Given the description of an element on the screen output the (x, y) to click on. 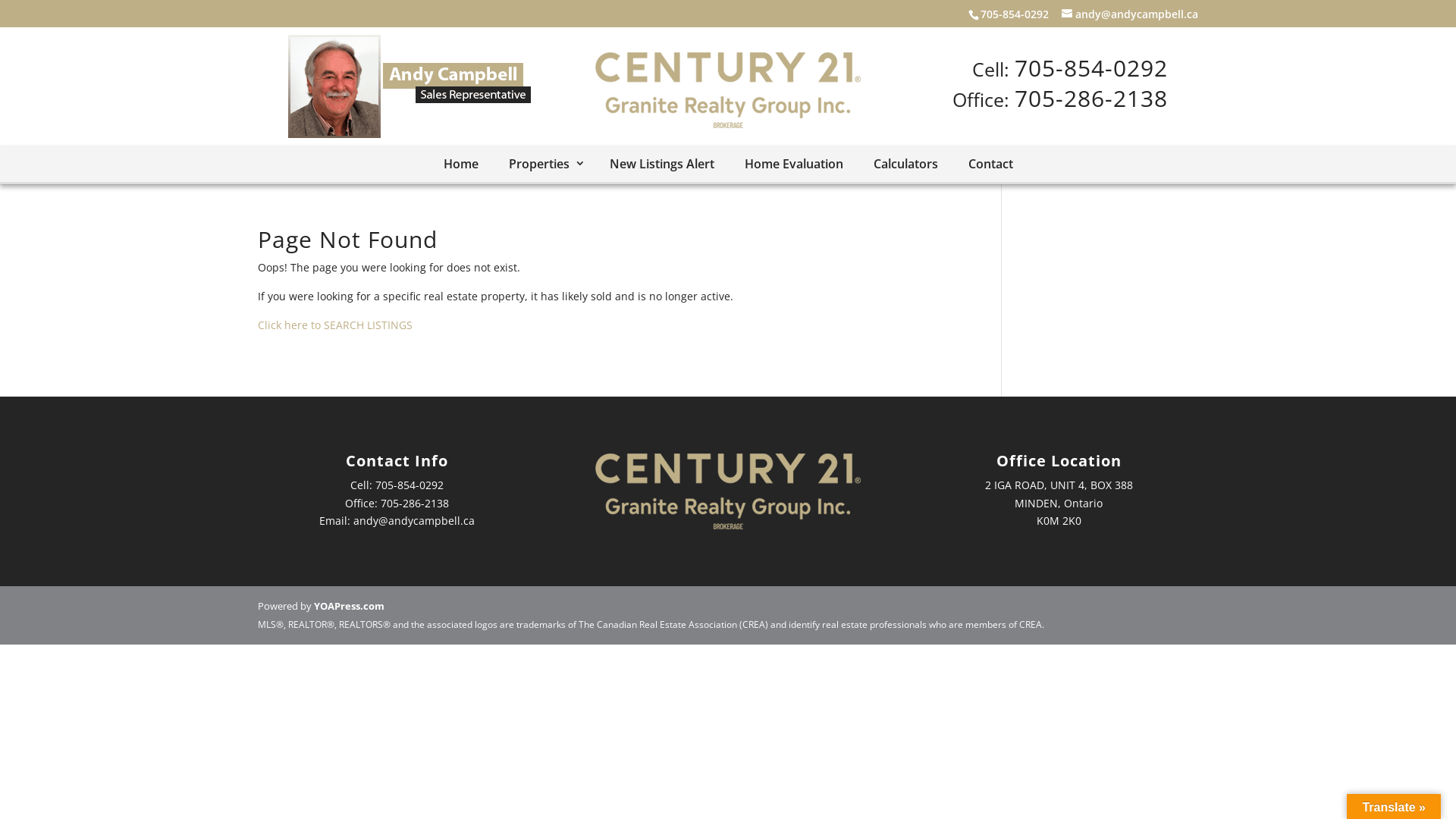
Click here to SEARCH LISTINGS Element type: text (334, 324)
Properties Element type: text (543, 164)
andy@andycampbell.ca Element type: text (413, 520)
705-854-0292 Element type: text (1090, 67)
Home Evaluation Element type: text (793, 164)
705-286-2138 Element type: text (1090, 96)
705-854-0292 Element type: text (409, 484)
New Listings Alert Element type: text (662, 164)
705-854-0292 Element type: text (1014, 13)
Calculators Element type: text (905, 164)
Home Element type: text (460, 164)
Contact Element type: text (989, 164)
YOAPress.com Element type: text (348, 605)
andy@andycampbell.ca Element type: text (1129, 13)
705-286-2138 Element type: text (414, 502)
